Given the description of an element on the screen output the (x, y) to click on. 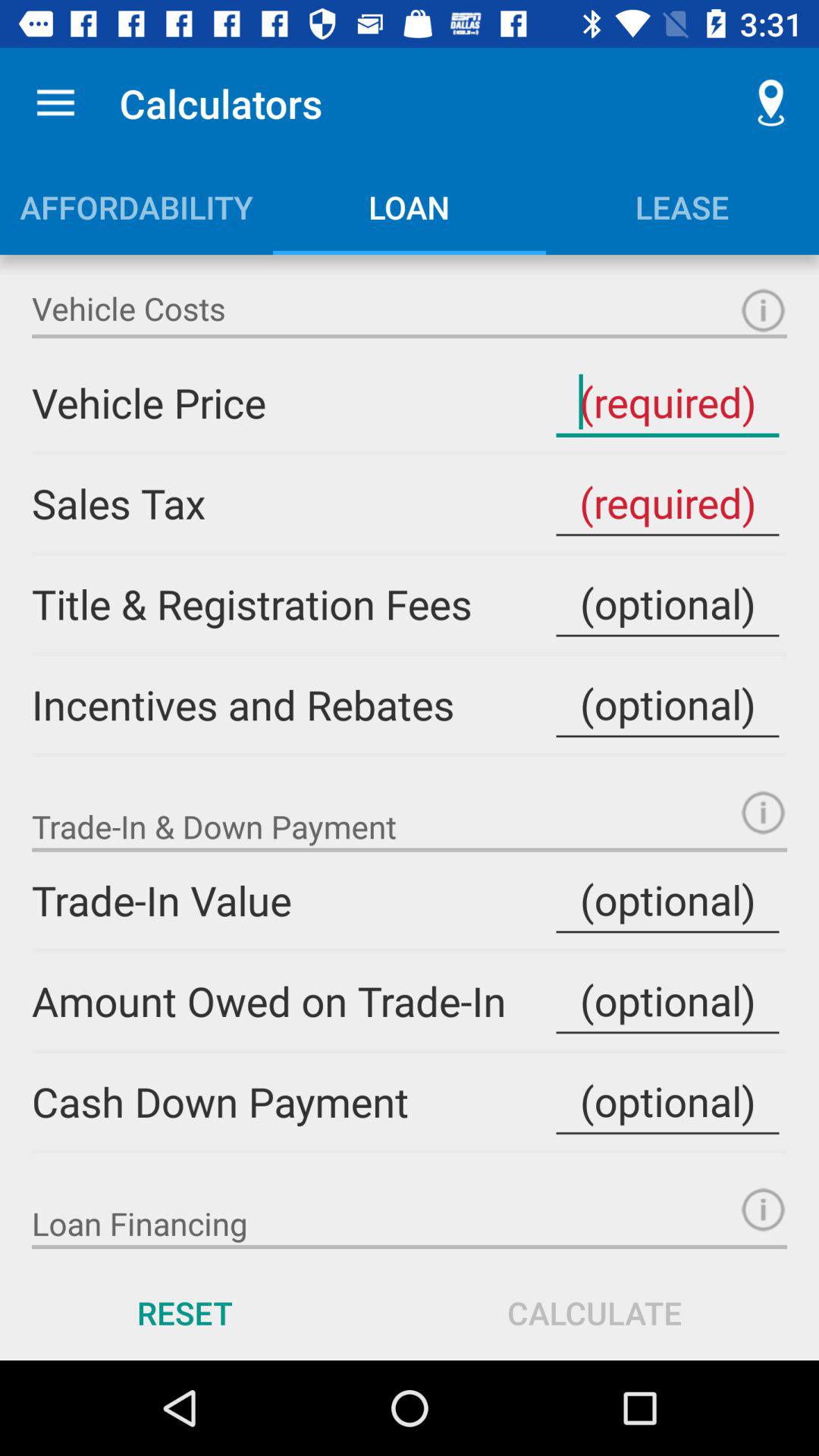
show information (763, 1209)
